Given the description of an element on the screen output the (x, y) to click on. 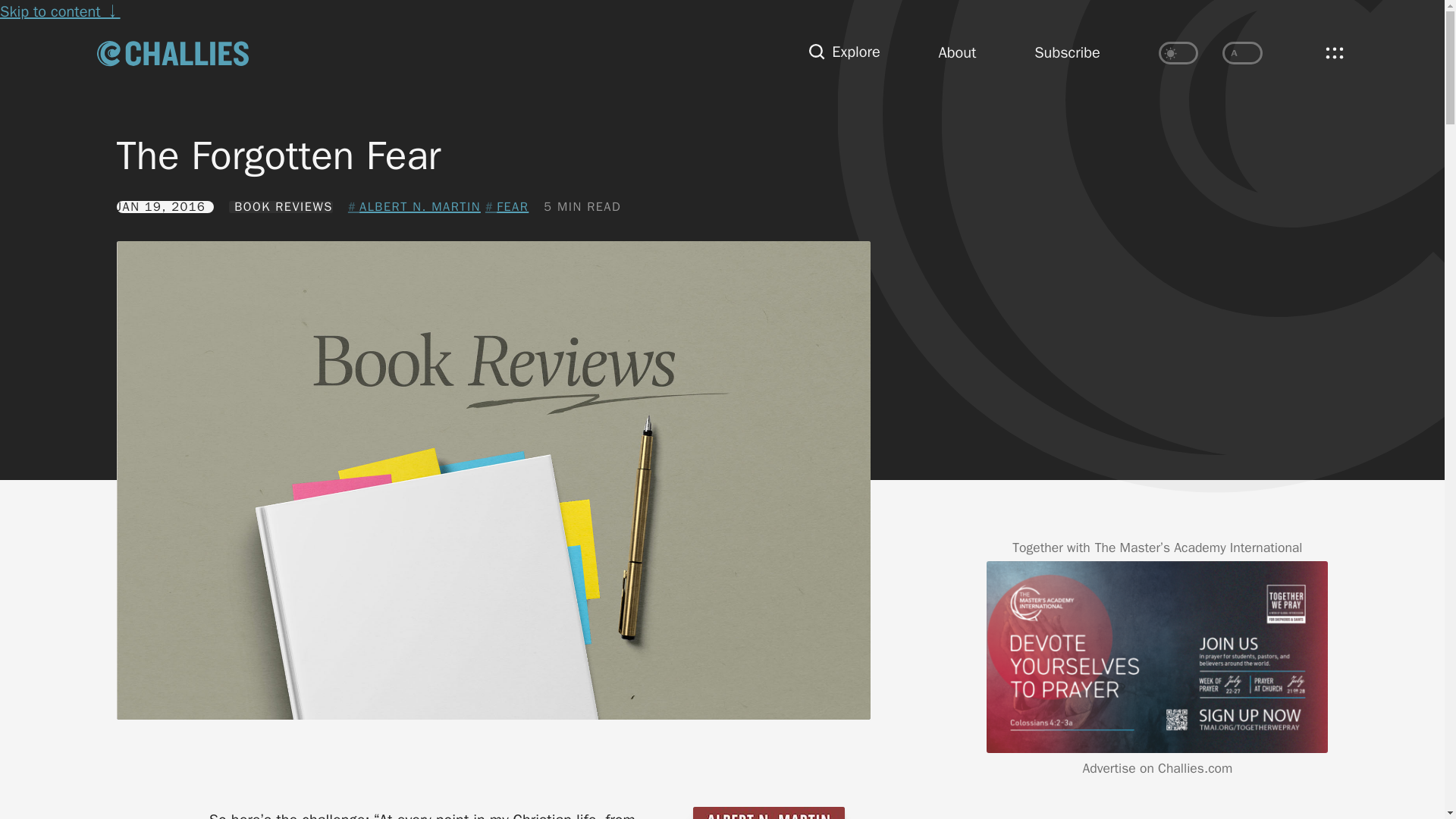
BOOK REVIEWS (280, 206)
on (1242, 53)
FEAR (506, 207)
Open menu (1334, 52)
Challies logo (172, 51)
JAN 19, 2016 (165, 206)
Advertise on Challies.com (1158, 768)
Jan 19, 2016 at 8:01 am (165, 206)
on (1178, 53)
Subscribe (1066, 52)
Explore (844, 53)
784 words (582, 206)
ALBERT N. MARTIN (413, 207)
Challies logo (172, 53)
About (957, 52)
